Given the description of an element on the screen output the (x, y) to click on. 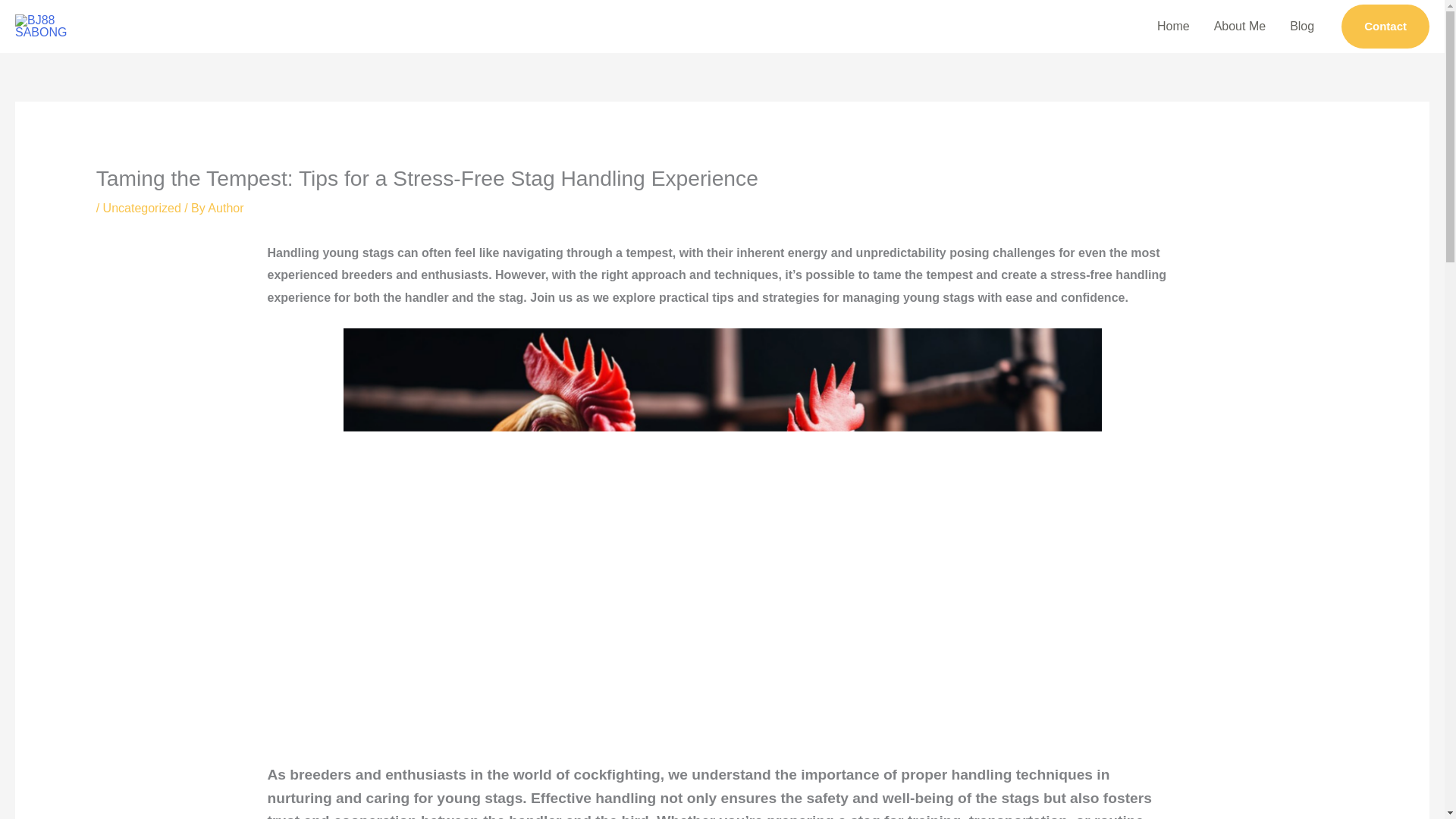
Uncategorized (141, 207)
Contact (1384, 26)
View all posts by Author (225, 207)
About Me (1240, 26)
Author (225, 207)
Blog (1302, 26)
Home (1173, 26)
